Given the description of an element on the screen output the (x, y) to click on. 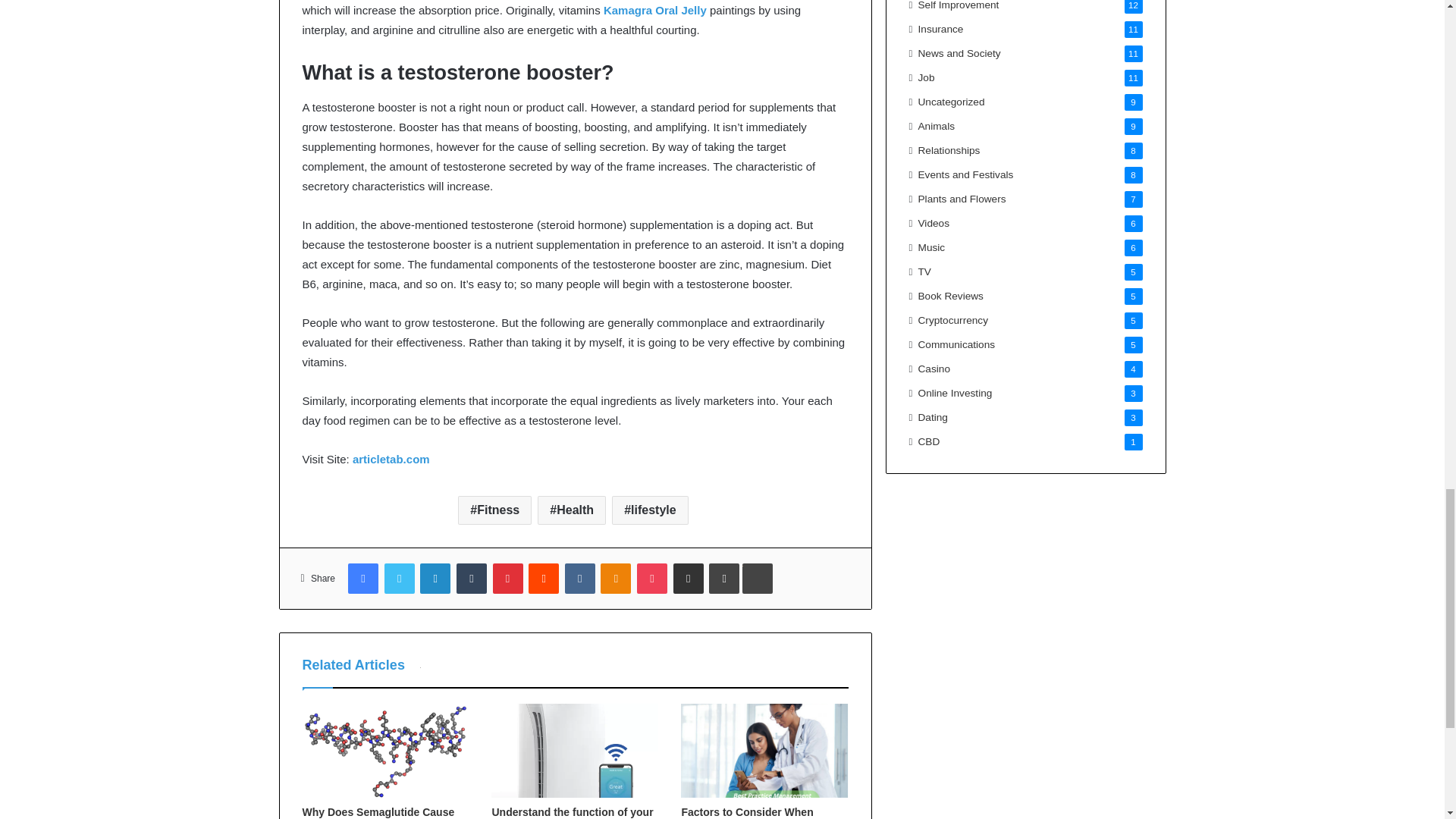
lifestyle (649, 510)
Fitness (494, 510)
Kamagra Oral Jelly (655, 10)
articletab.com (390, 459)
Health (571, 510)
